Given the description of an element on the screen output the (x, y) to click on. 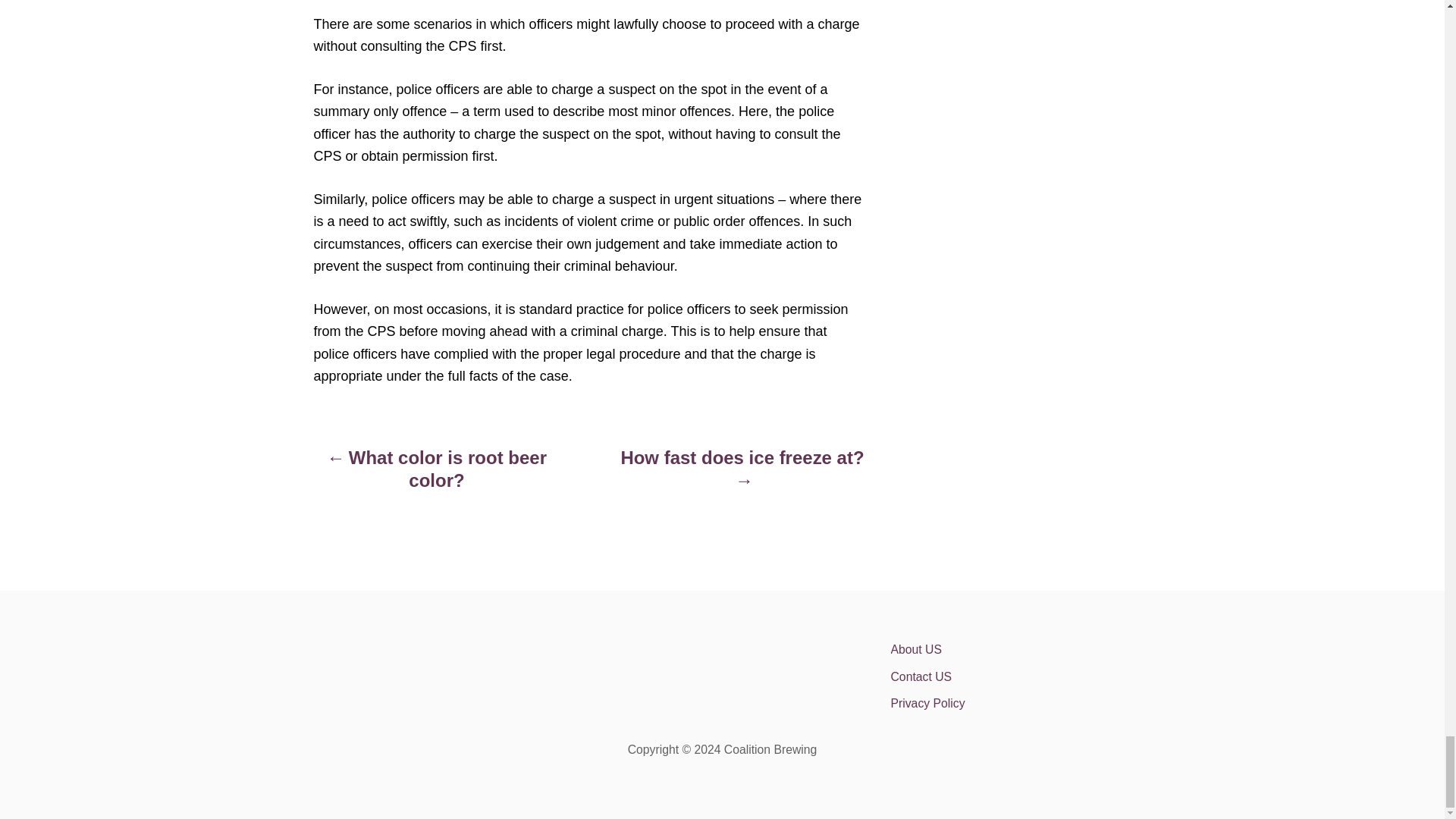
Contact US (1021, 677)
Privacy Policy (1021, 703)
About US (1021, 649)
What color is root beer color? (437, 476)
How fast does ice freeze at? (741, 476)
